Given the description of an element on the screen output the (x, y) to click on. 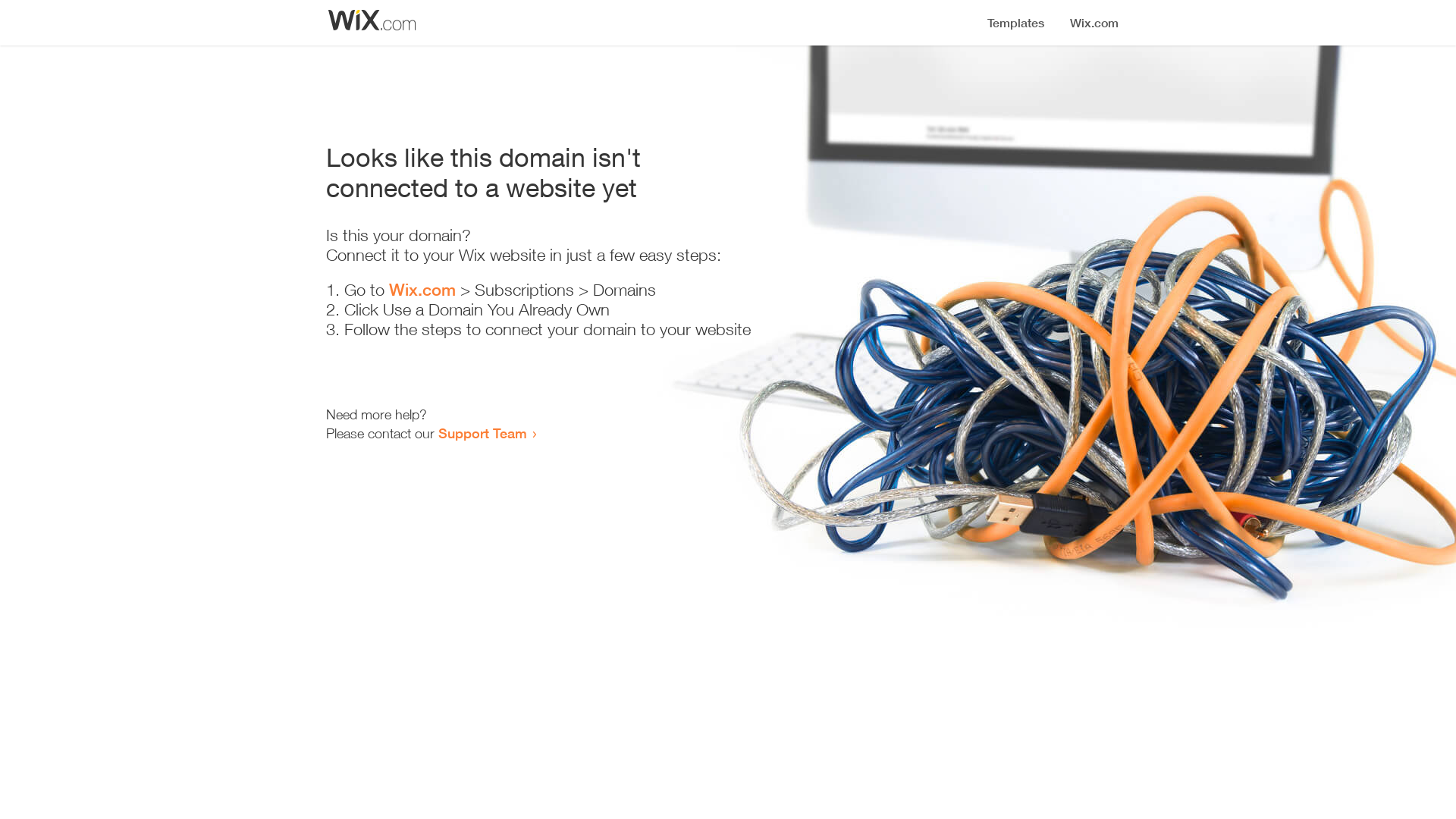
Support Team Element type: text (482, 432)
Wix.com Element type: text (422, 289)
